Given the description of an element on the screen output the (x, y) to click on. 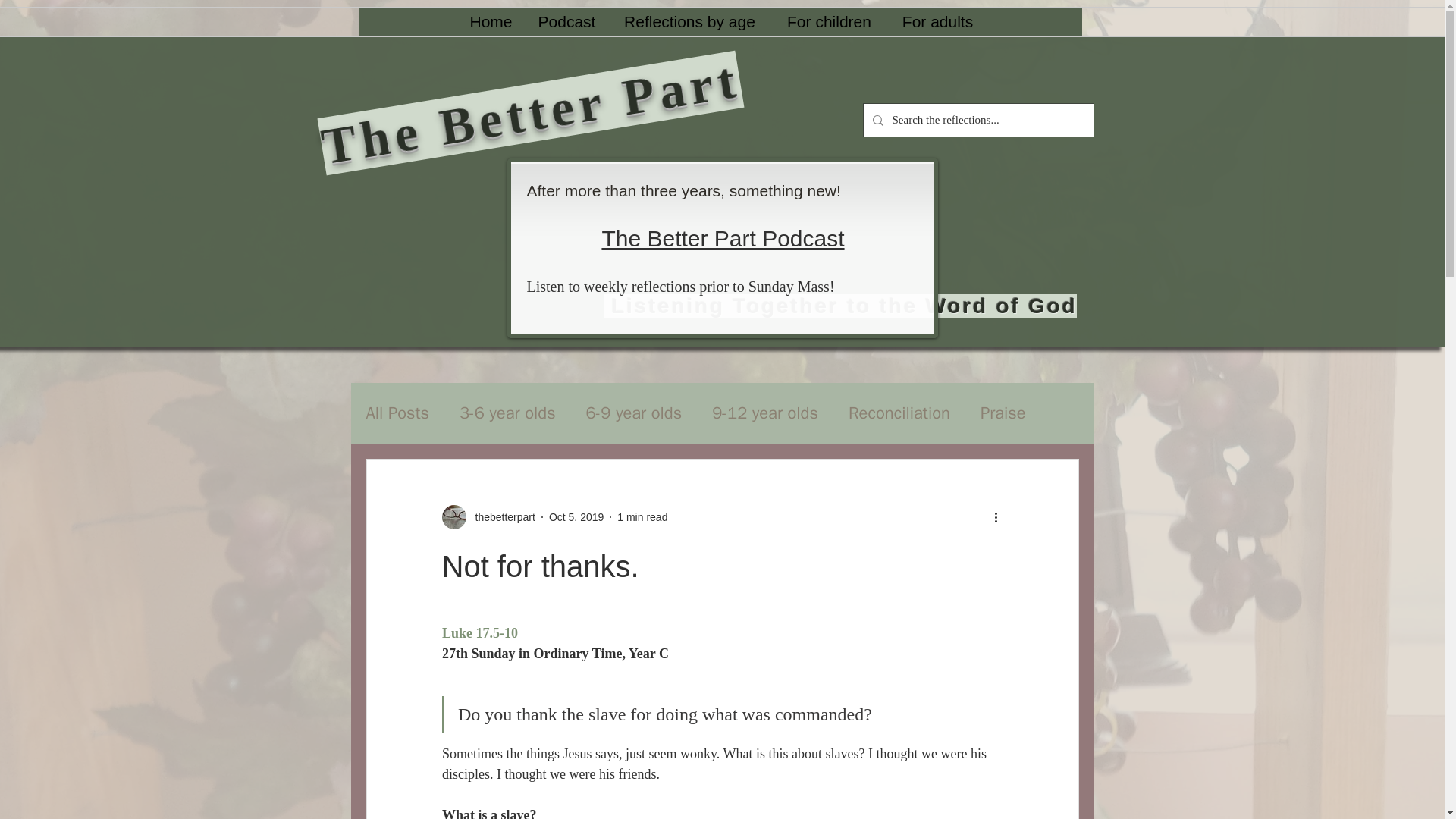
Reconciliation (899, 413)
For children (828, 21)
All Posts (397, 413)
The Better Part (528, 79)
9-12 year olds (764, 413)
Home (490, 21)
3-6 year olds (508, 413)
thebetterpart (499, 517)
Oct 5, 2019 (576, 517)
thebetterpart (487, 517)
